Given the description of an element on the screen output the (x, y) to click on. 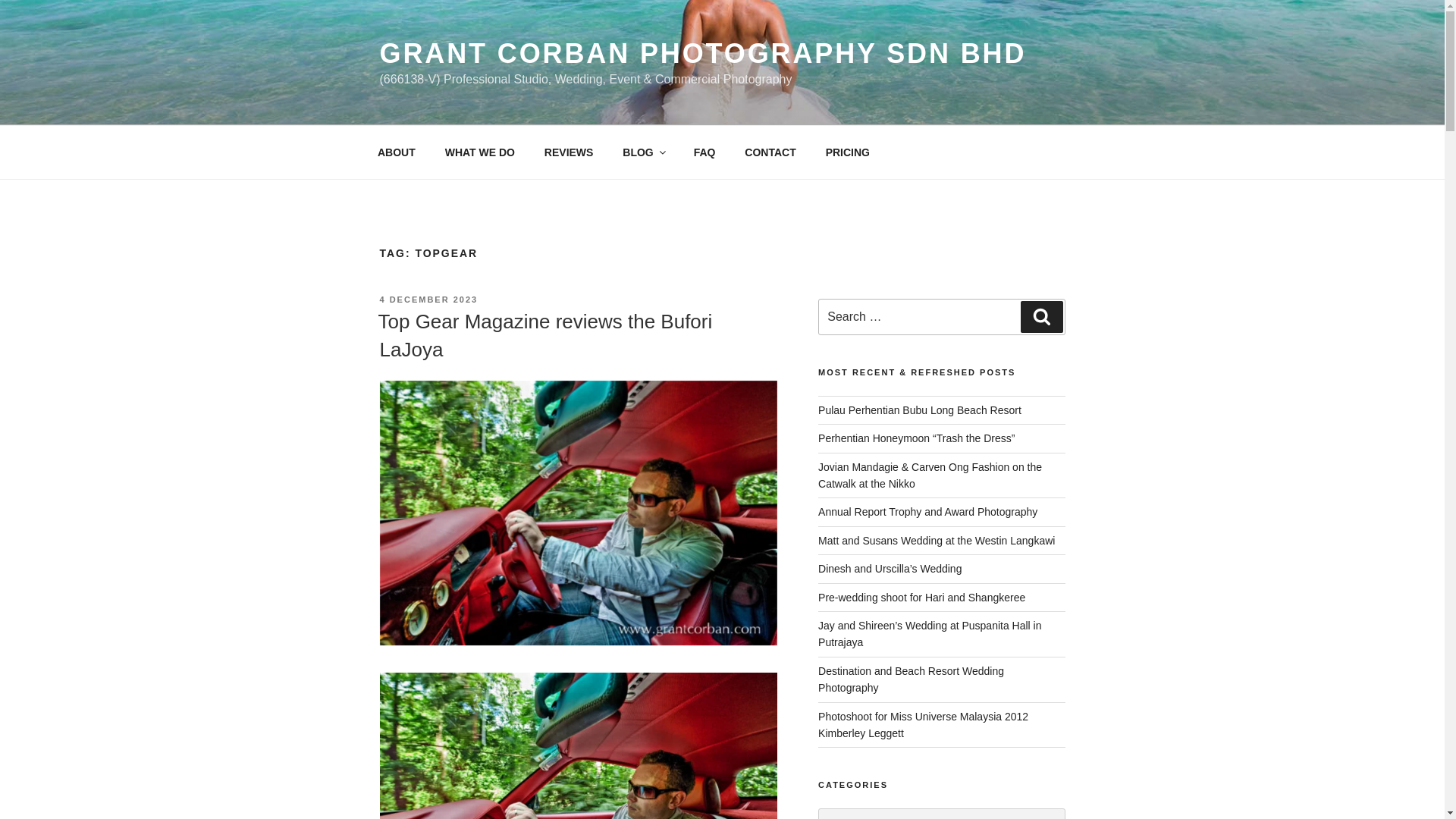
WHAT WE DO (478, 151)
Matt and Susans Wedding at the Westin Langkawi (936, 540)
Destination and Beach Resort Wedding Photography (911, 679)
ABOUT (396, 151)
Photoshoot for Miss Universe Malaysia 2012 Kimberley Leggett (922, 724)
Top Gear Magazine reviews the Bufori LaJoya (544, 335)
Annual Report Trophy and Award Photography (927, 511)
BLOG (643, 151)
CONTACT (770, 151)
GRANT CORBAN PHOTOGRAPHY SDN BHD (702, 52)
Pre-wedding shoot for Hari and Shangkeree (921, 597)
FAQ (704, 151)
Search (1041, 316)
REVIEWS (569, 151)
4 DECEMBER 2023 (427, 298)
